Given the description of an element on the screen output the (x, y) to click on. 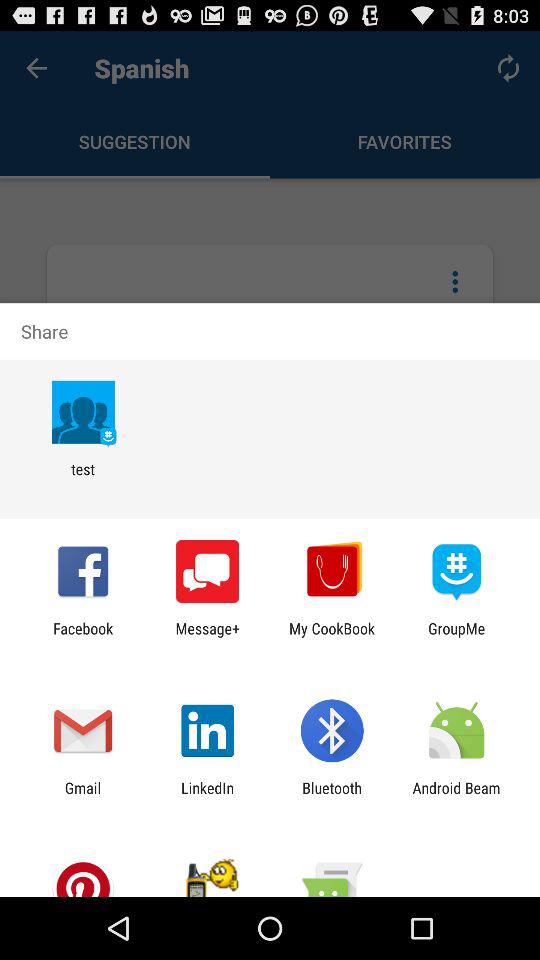
launch app next to message+ (83, 637)
